Given the description of an element on the screen output the (x, y) to click on. 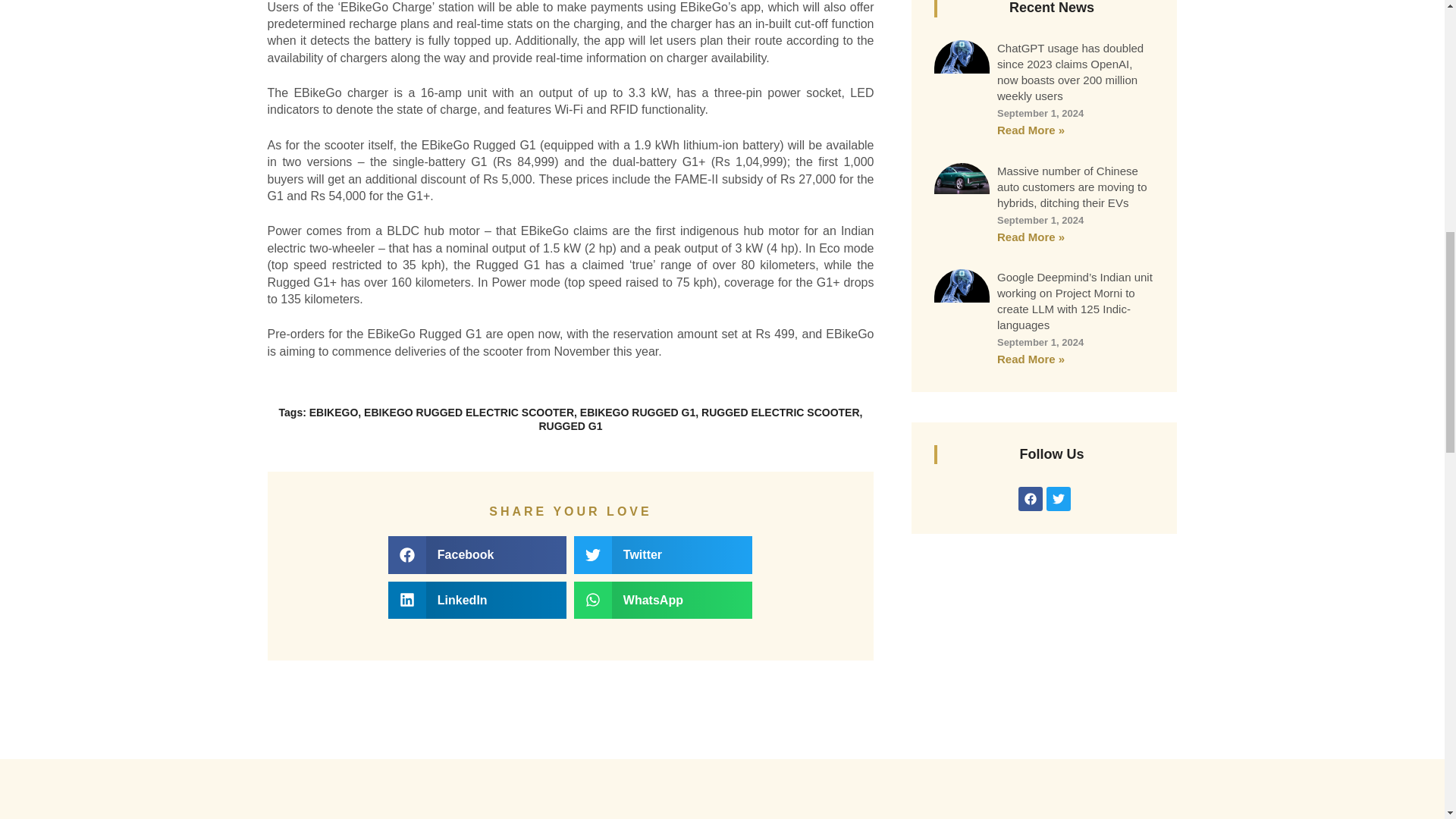
RUGGED ELECTRIC SCOOTER (780, 412)
EBIKEGO RUGGED ELECTRIC SCOOTER (468, 412)
RUGGED G1 (570, 426)
EBIKEGO RUGGED G1 (637, 412)
EBIKEGO (333, 412)
